Given the description of an element on the screen output the (x, y) to click on. 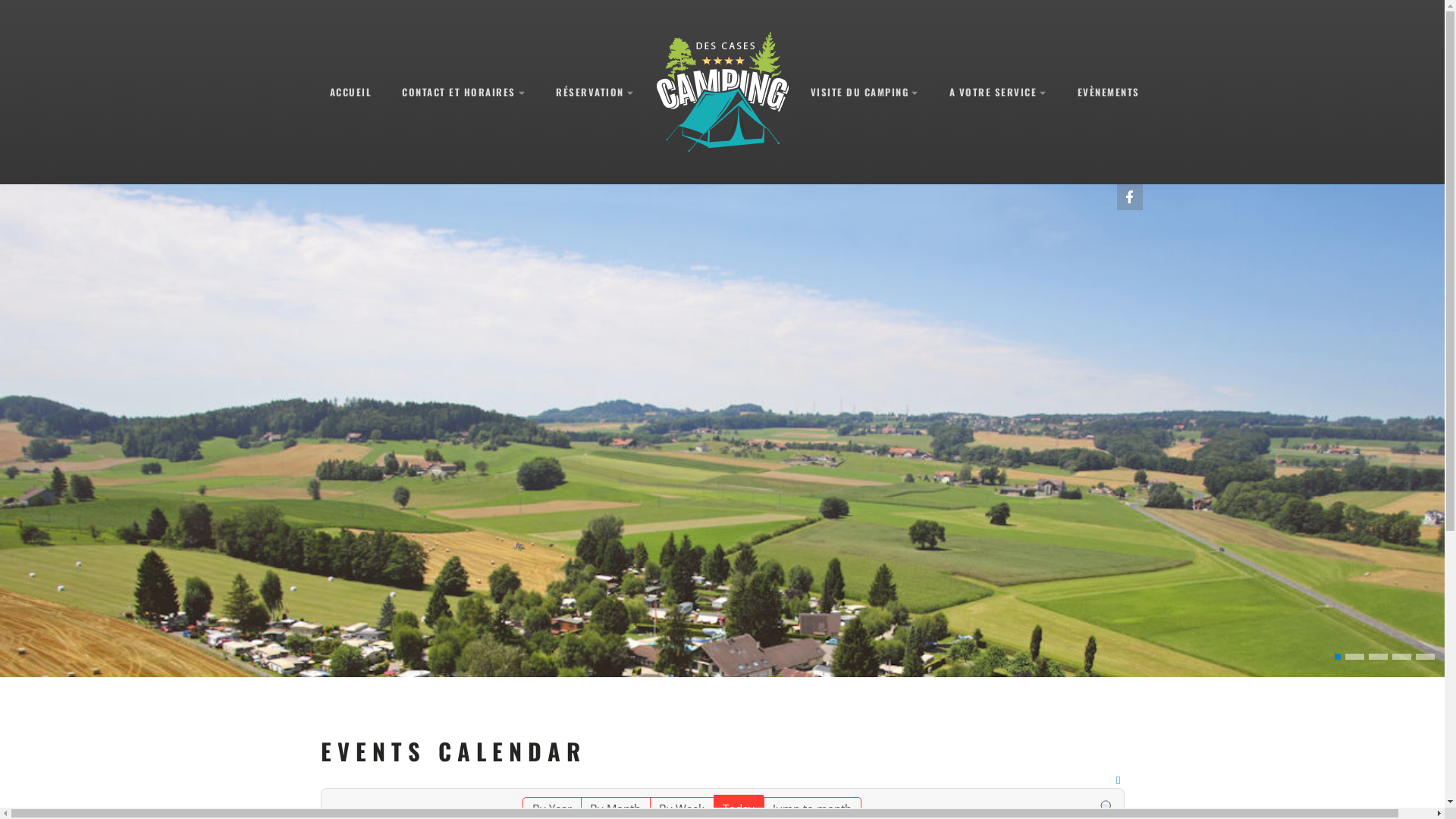
A VOTRE SERVICE Element type: text (998, 91)
Print Element type: hover (1118, 779)
CONTACT ET HORAIRES Element type: text (463, 91)
VISITE DU CAMPING Element type: text (863, 91)
ACCUEIL Element type: text (349, 91)
Search Element type: hover (1107, 806)
Facebook Element type: text (1129, 197)
